Given the description of an element on the screen output the (x, y) to click on. 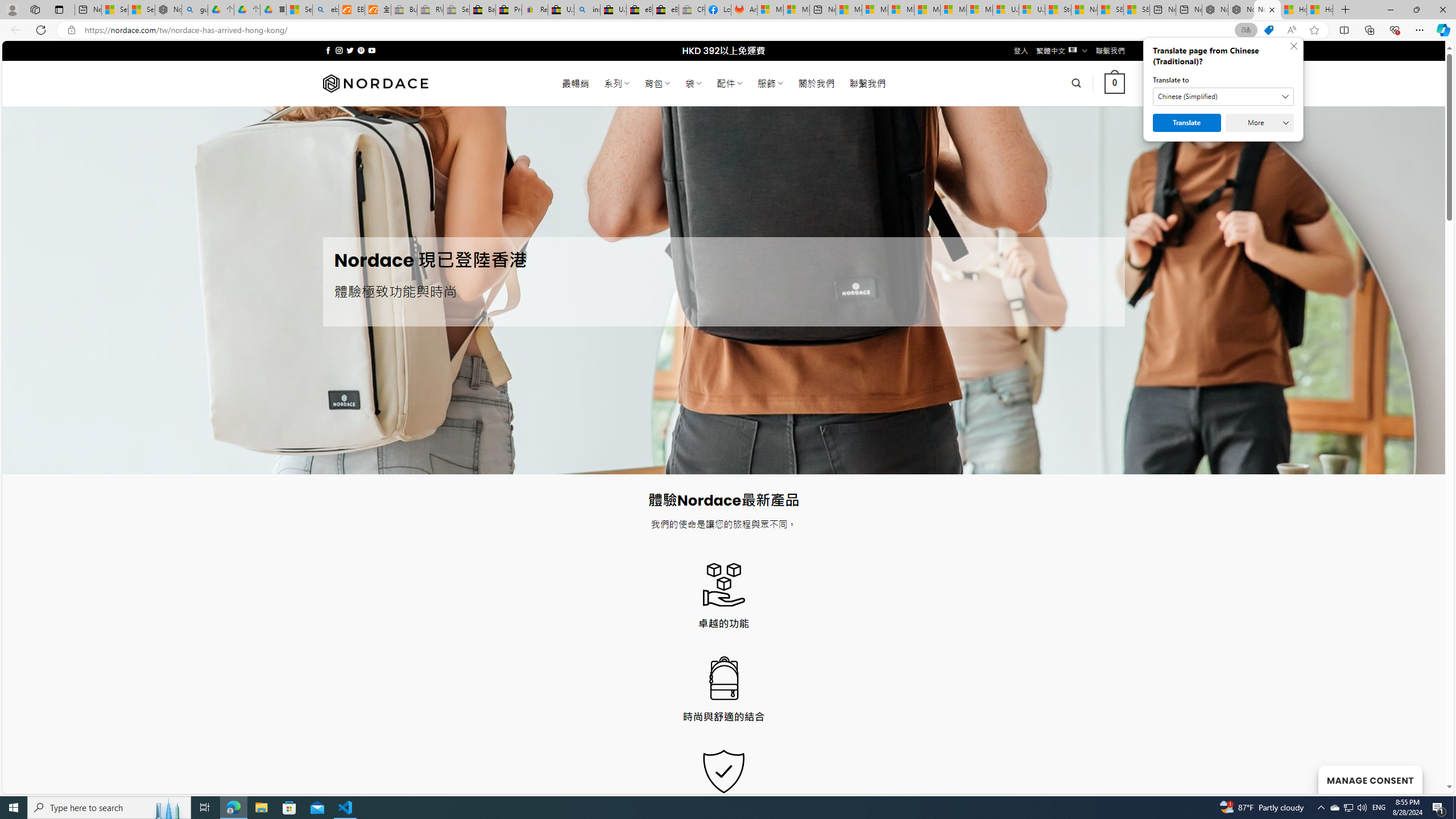
Show translate options (1245, 29)
Follow on Pinterest (360, 50)
Follow on Facebook (327, 50)
